Given the description of an element on the screen output the (x, y) to click on. 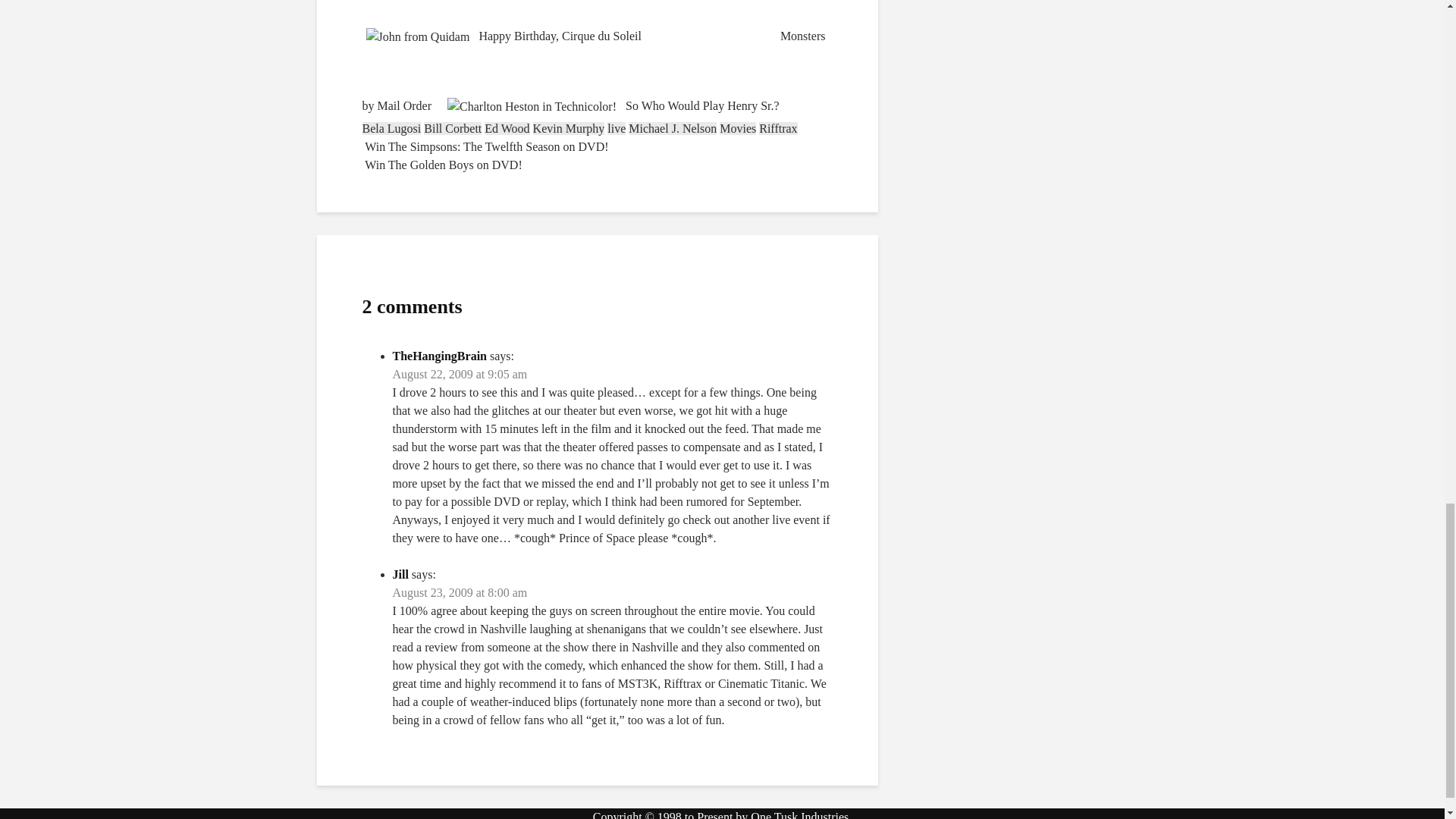
Kevin Murphy (568, 128)
Monsters by Mail Order (593, 70)
Happy Birthday, Cirque du Soleil (504, 35)
Rifftrax (777, 128)
Win The Golden Boys on DVD! (442, 164)
Michael J. Nelson (672, 128)
live (616, 128)
Bela Lugosi (392, 128)
Happy Birthday, Cirque du Soleil (504, 35)
Ed Wood (506, 128)
